Given the description of an element on the screen output the (x, y) to click on. 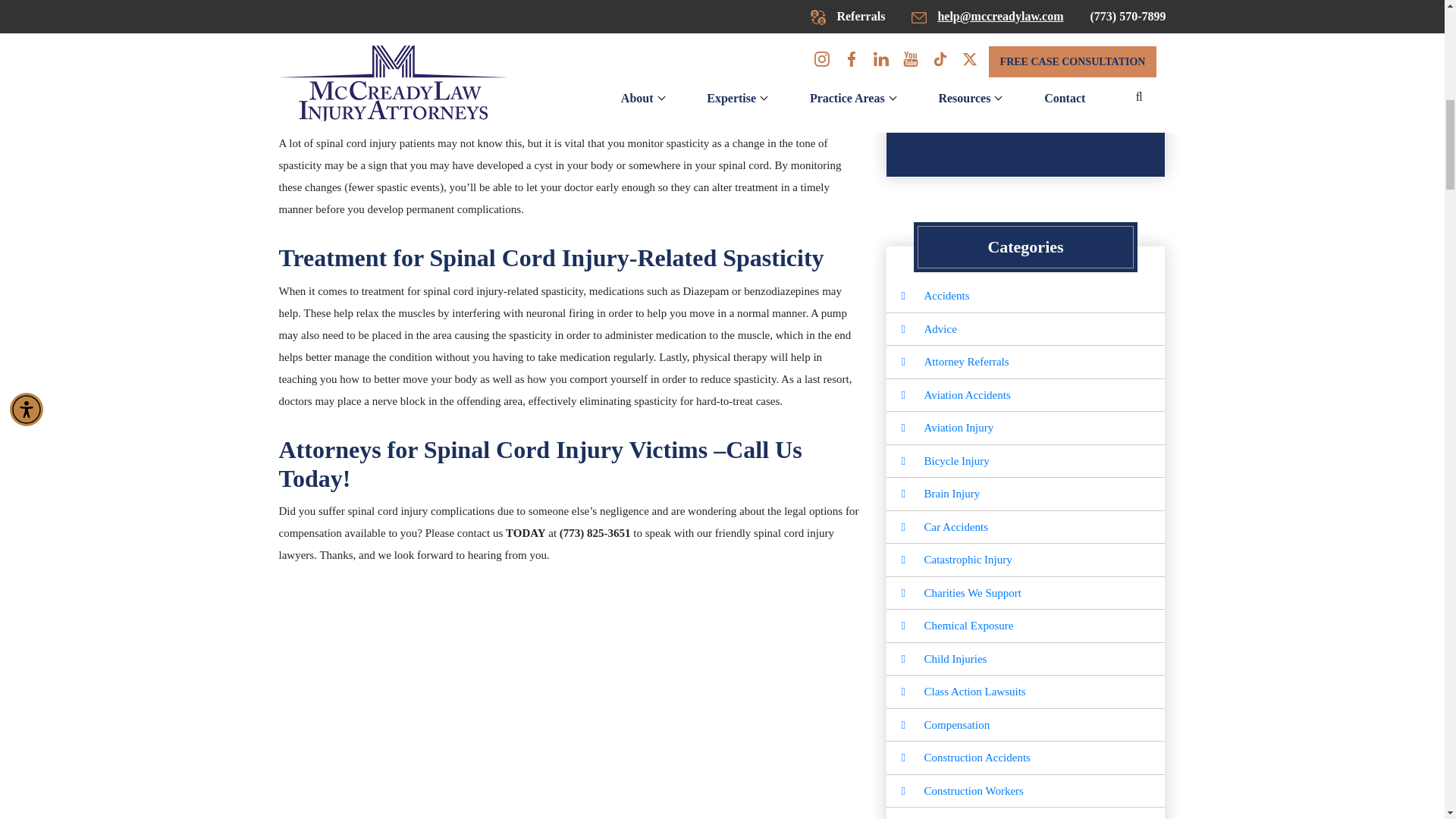
SUBMIT (1024, 113)
